Given the description of an element on the screen output the (x, y) to click on. 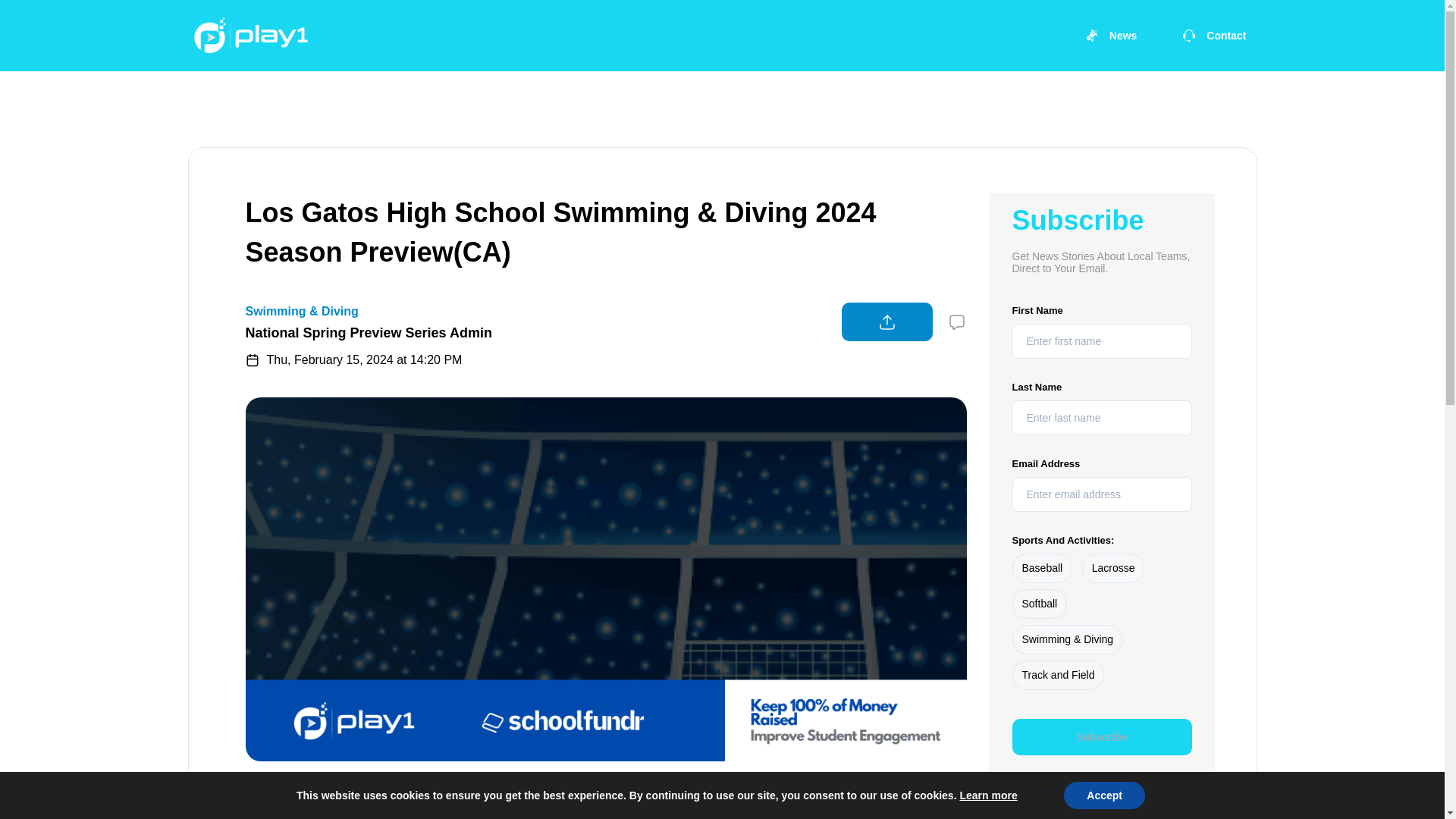
Contact (1214, 35)
Learn more (987, 795)
Accept (1104, 795)
News (1111, 35)
Subscribe (1101, 737)
Subscribe (1101, 737)
